Given the description of an element on the screen output the (x, y) to click on. 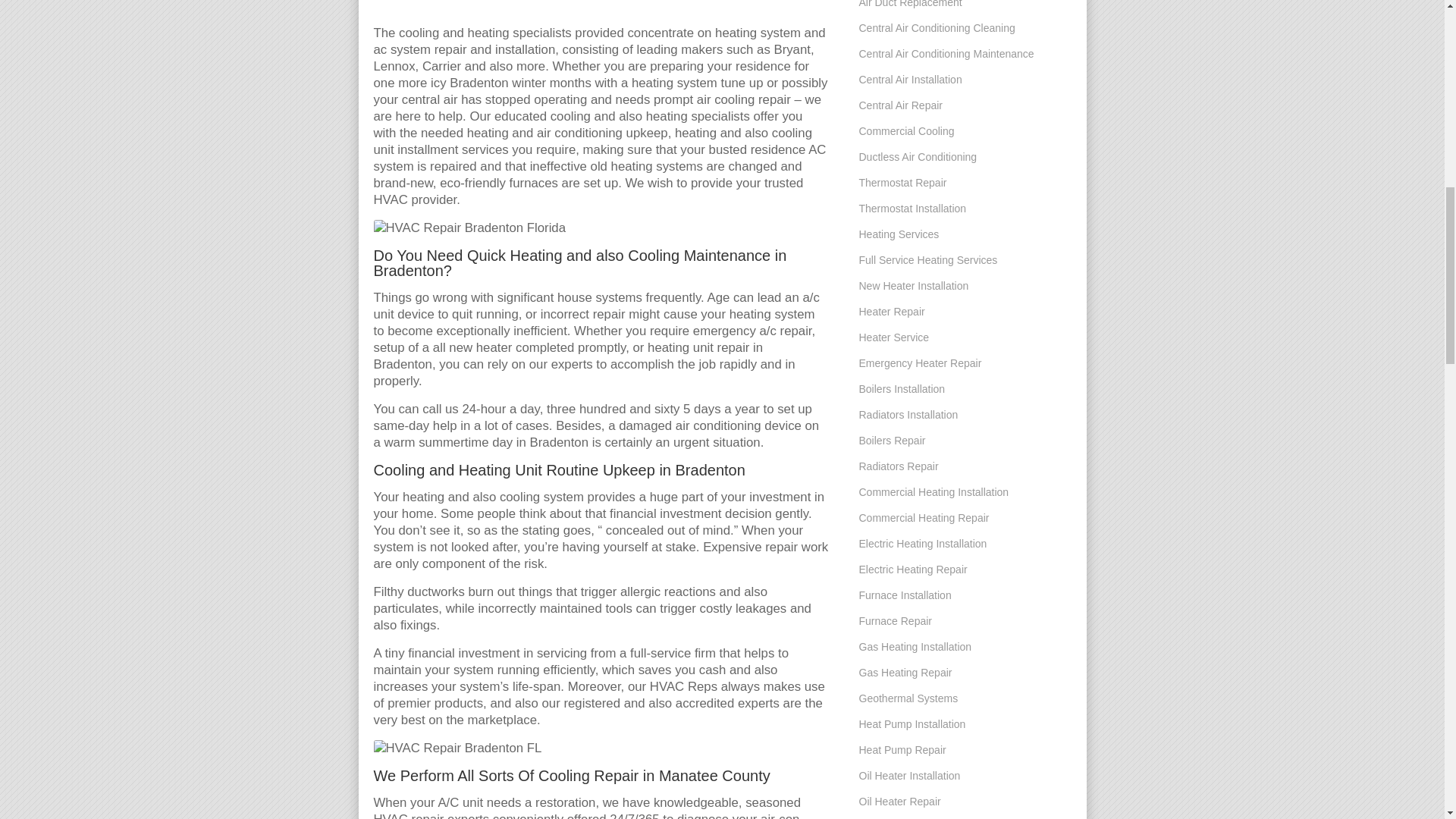
HVAC Repair Bradenton Florida (469, 228)
HVAC Repair Bradenton FL (456, 748)
Central Heating Installation (600, 12)
